Given the description of an element on the screen output the (x, y) to click on. 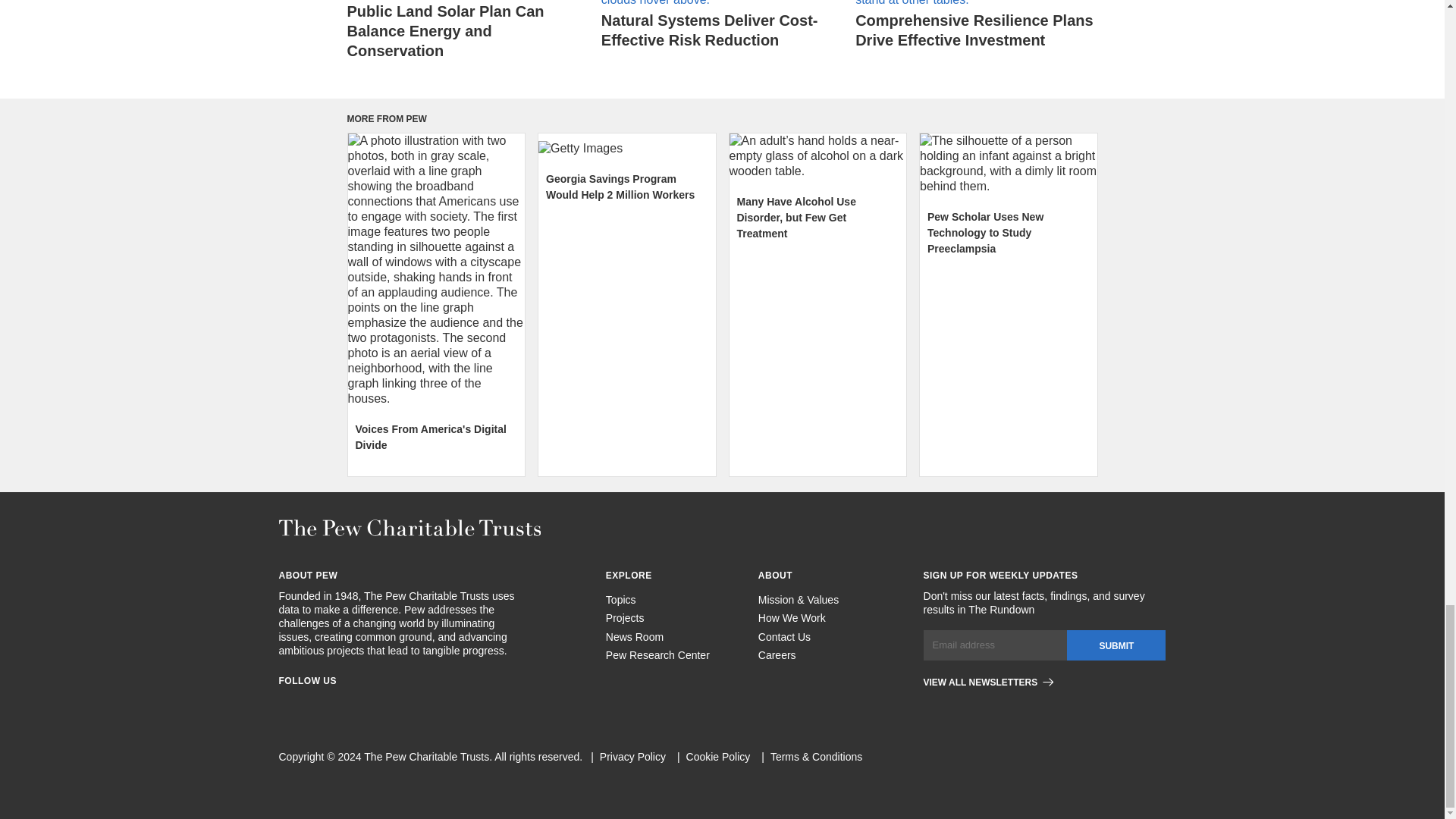
Follow us on twitter  (367, 704)
Facebook (285, 704)
YouTube (421, 704)
LinkedIn (340, 704)
RSS (394, 704)
Instagram (312, 704)
Getty Images (627, 148)
